Given the description of an element on the screen output the (x, y) to click on. 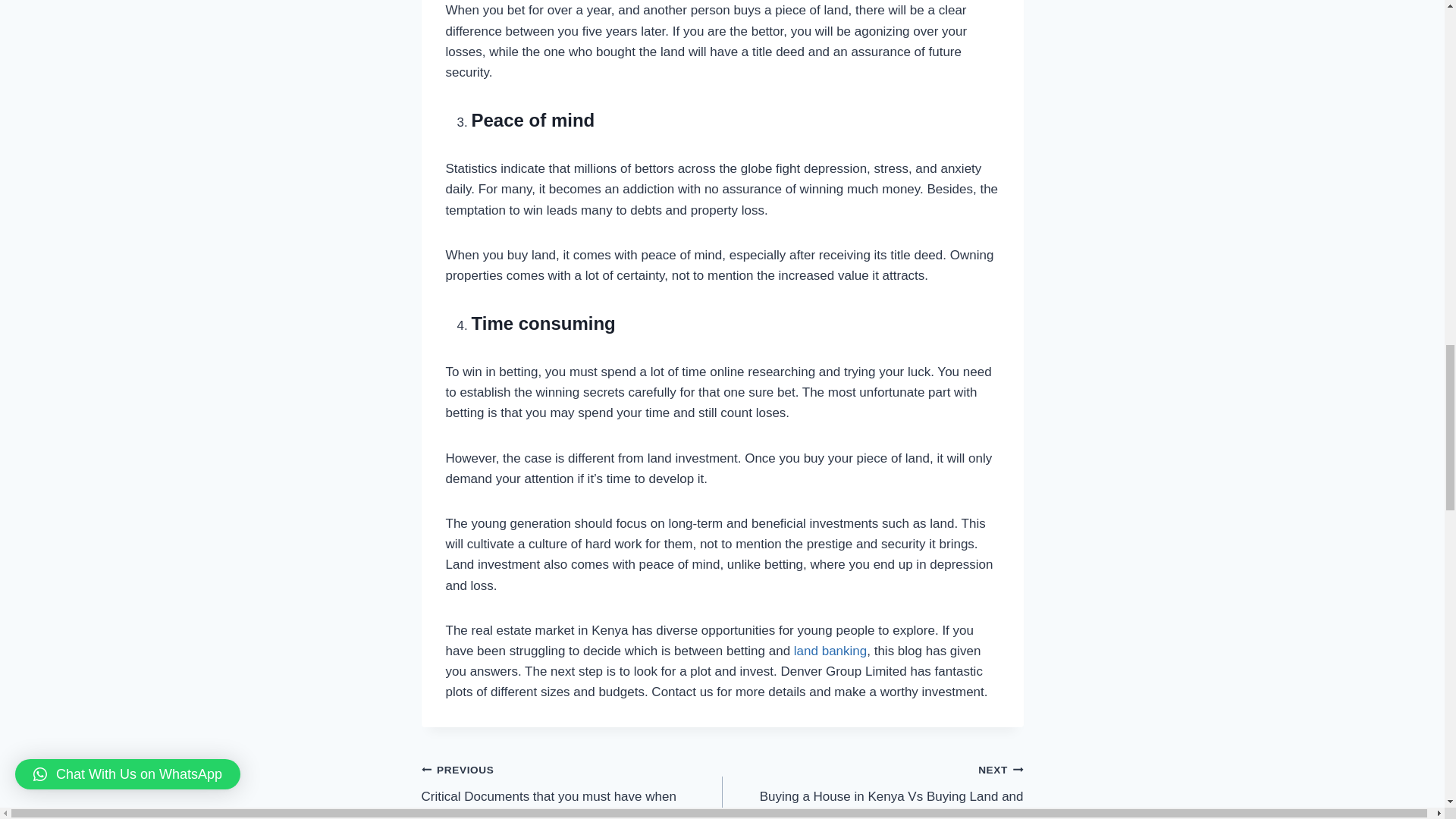
land banking (872, 789)
